Given the description of an element on the screen output the (x, y) to click on. 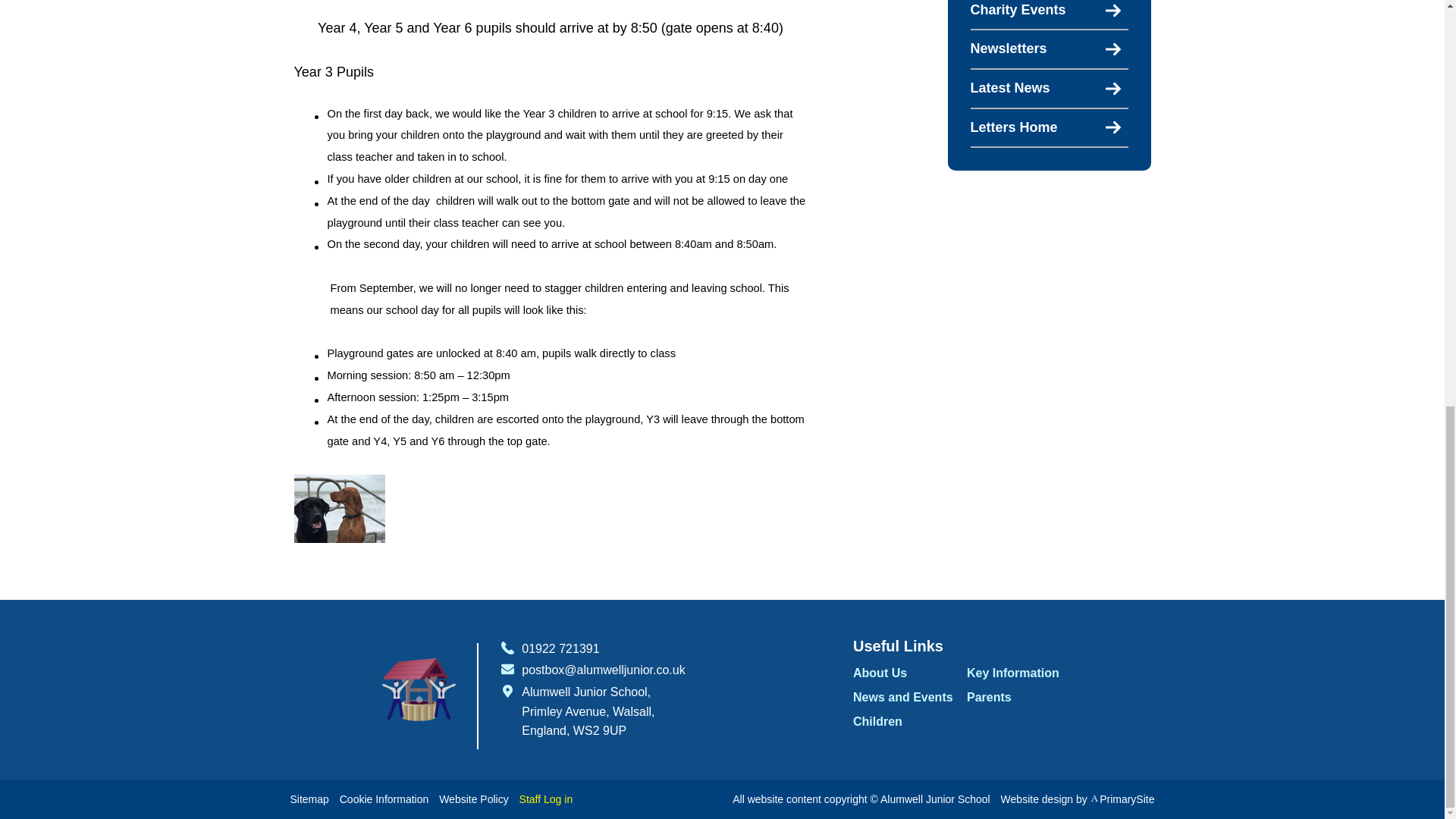
Home Page (418, 689)
